Given the description of an element on the screen output the (x, y) to click on. 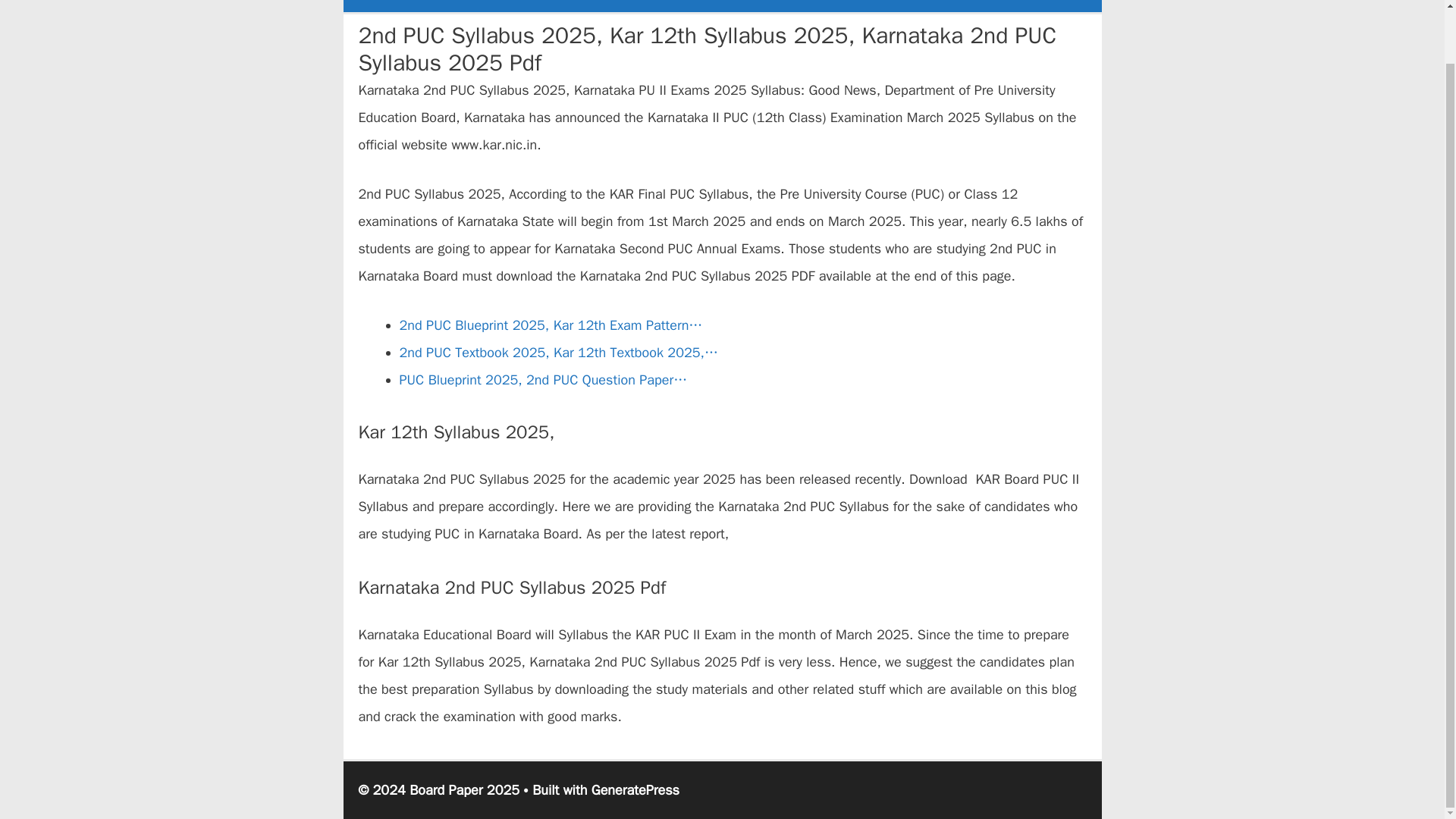
GeneratePress (635, 790)
NCERT (773, 6)
Study Material 2024 (871, 6)
Orukkam (1036, 6)
Inter (564, 6)
Syllabus 2024 (393, 6)
Books 2024 (491, 6)
JNVST (967, 6)
Online Syllabus (644, 6)
